Given the description of an element on the screen output the (x, y) to click on. 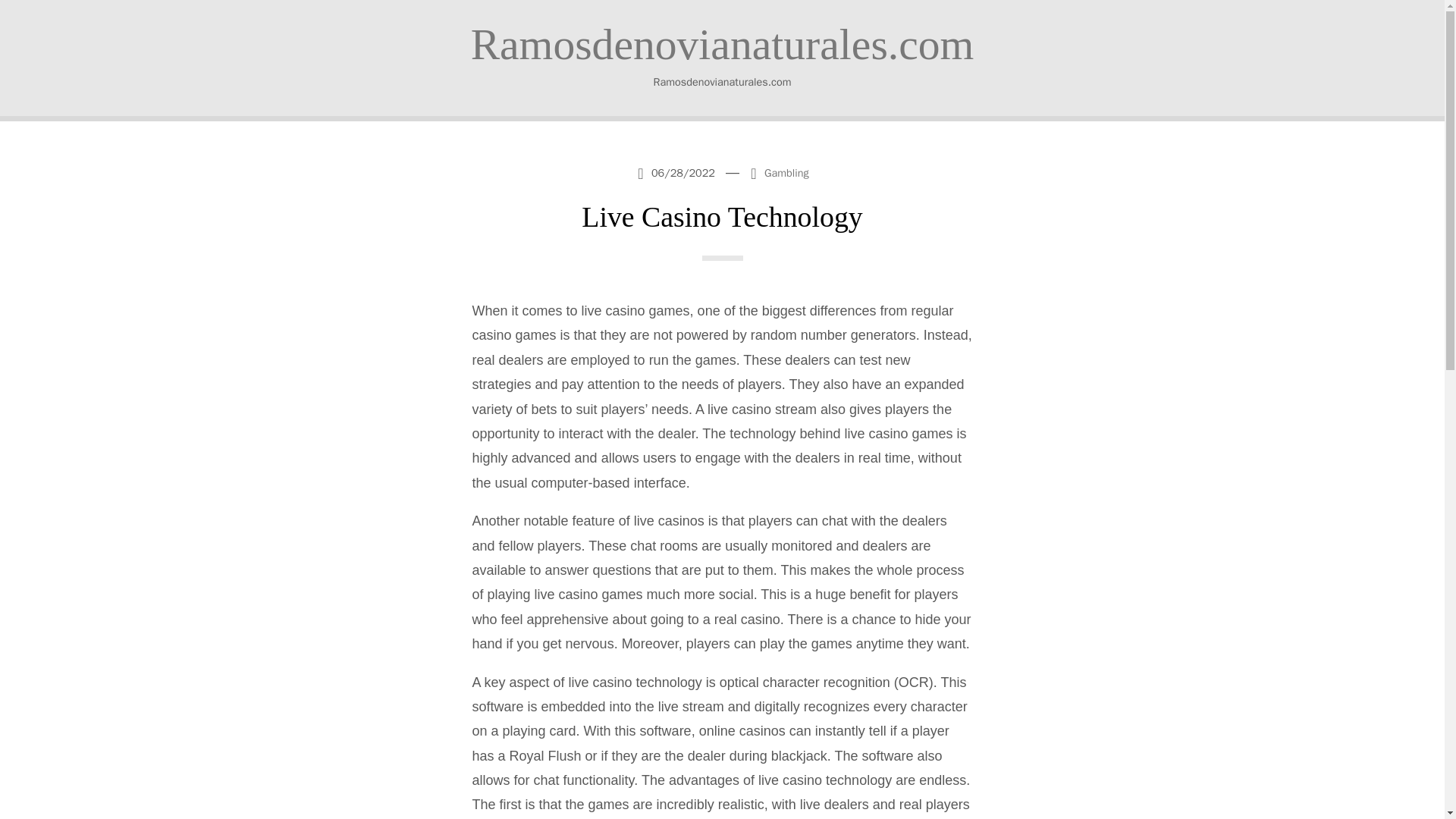
Gambling (786, 172)
Ramosdenovianaturales.com (722, 43)
